Given the description of an element on the screen output the (x, y) to click on. 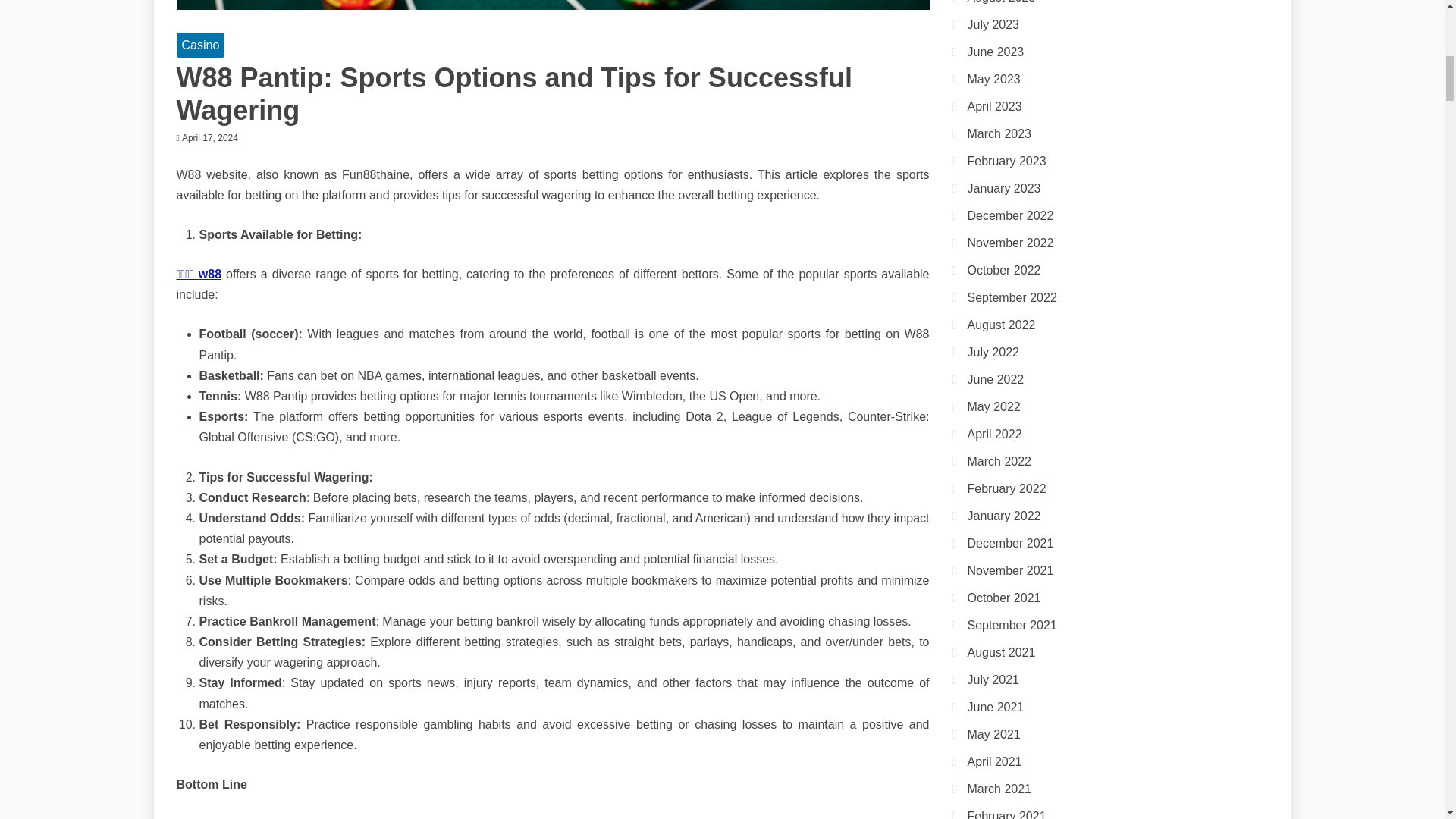
April 17, 2024 (210, 137)
Casino (200, 44)
W88 Pantip: Sports Options and Tips for Successful Wagering (513, 94)
w88 pantip (207, 818)
